Given the description of an element on the screen output the (x, y) to click on. 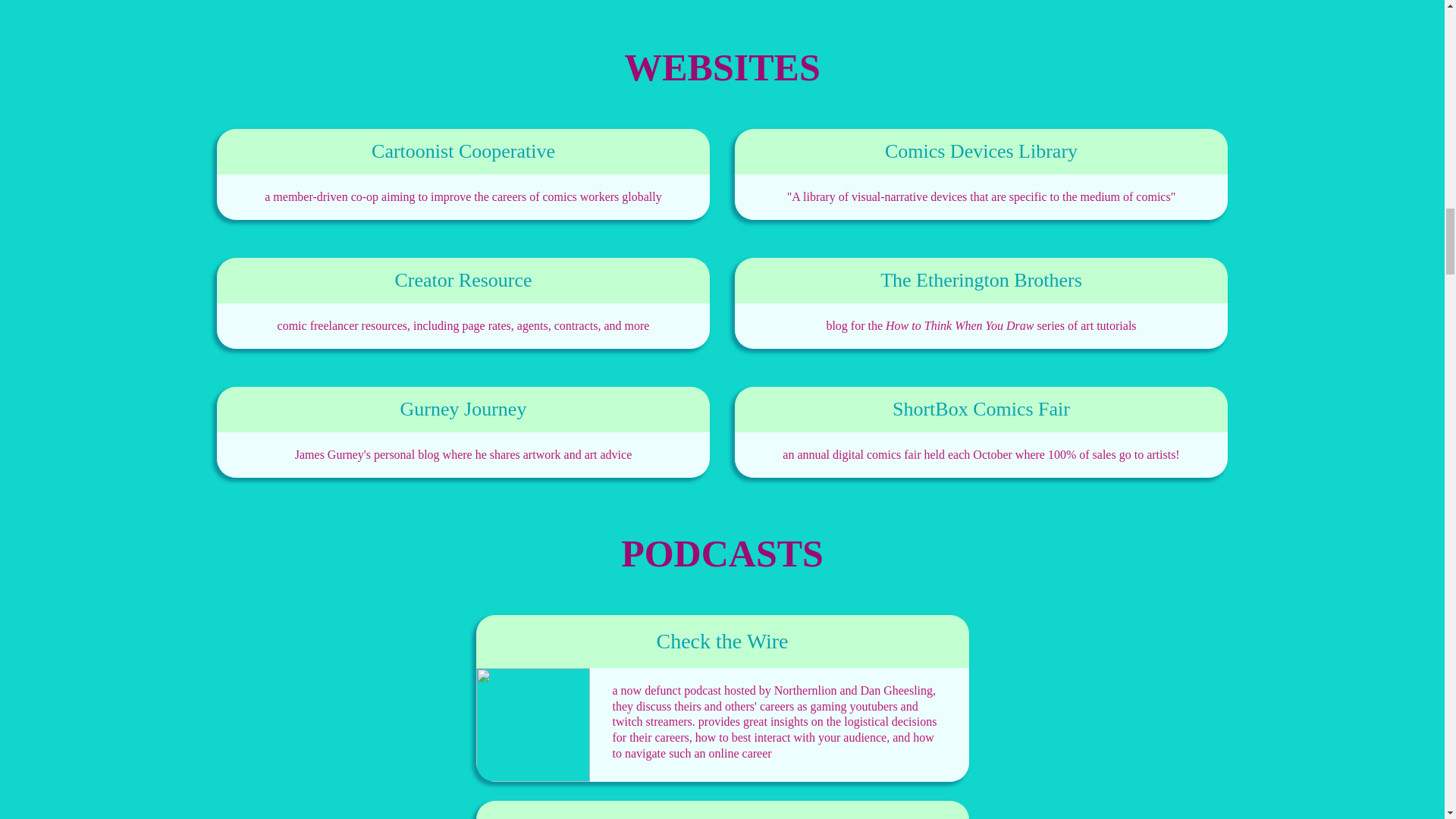
Gurney Journey (463, 409)
Creator Resource (463, 280)
Cartoonist Cooperative (463, 151)
